Given the description of an element on the screen output the (x, y) to click on. 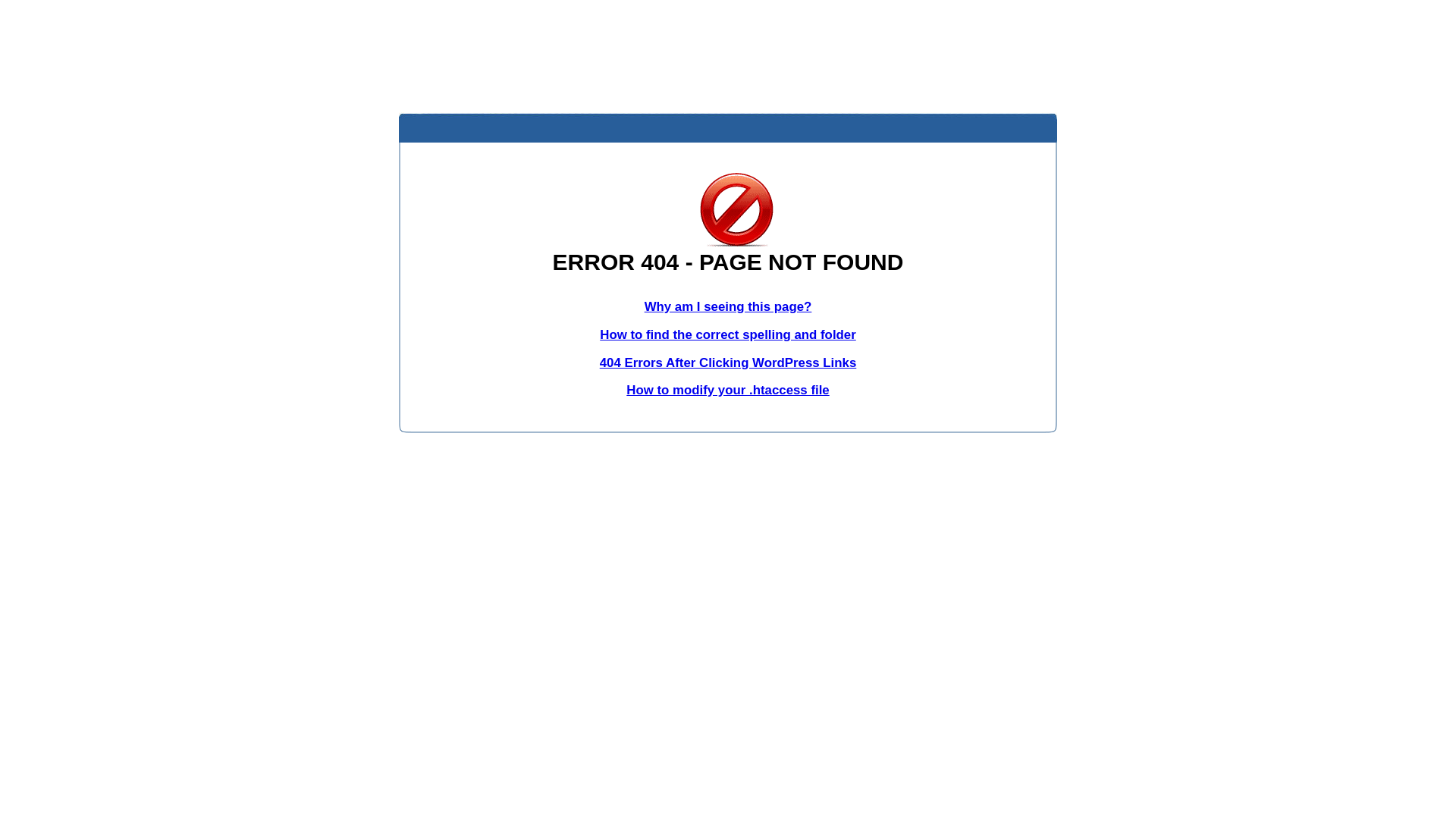
Why am I seeing this page? Element type: text (728, 306)
How to modify your .htaccess file Element type: text (727, 389)
404 Errors After Clicking WordPress Links Element type: text (727, 362)
How to find the correct spelling and folder Element type: text (727, 334)
